Given the description of an element on the screen output the (x, y) to click on. 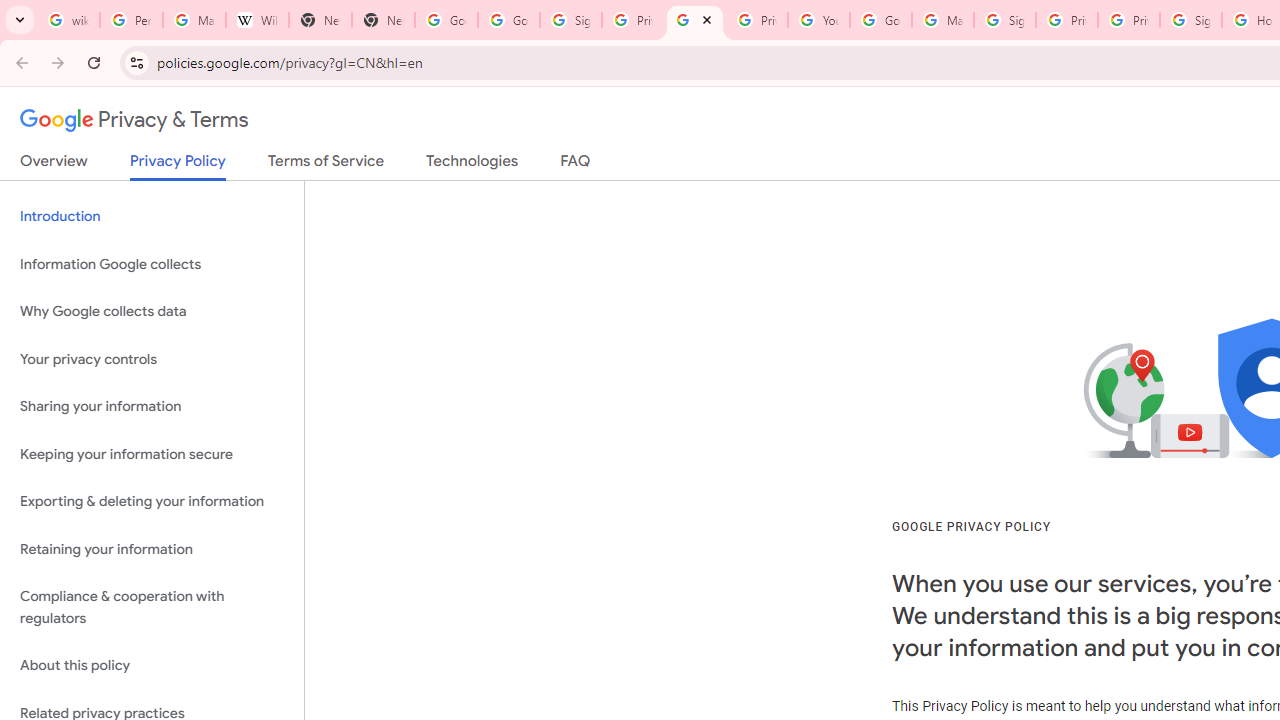
Sign in - Google Accounts (570, 20)
New Tab (320, 20)
Google Account Help (880, 20)
Sign in - Google Accounts (1190, 20)
